Given the description of an element on the screen output the (x, y) to click on. 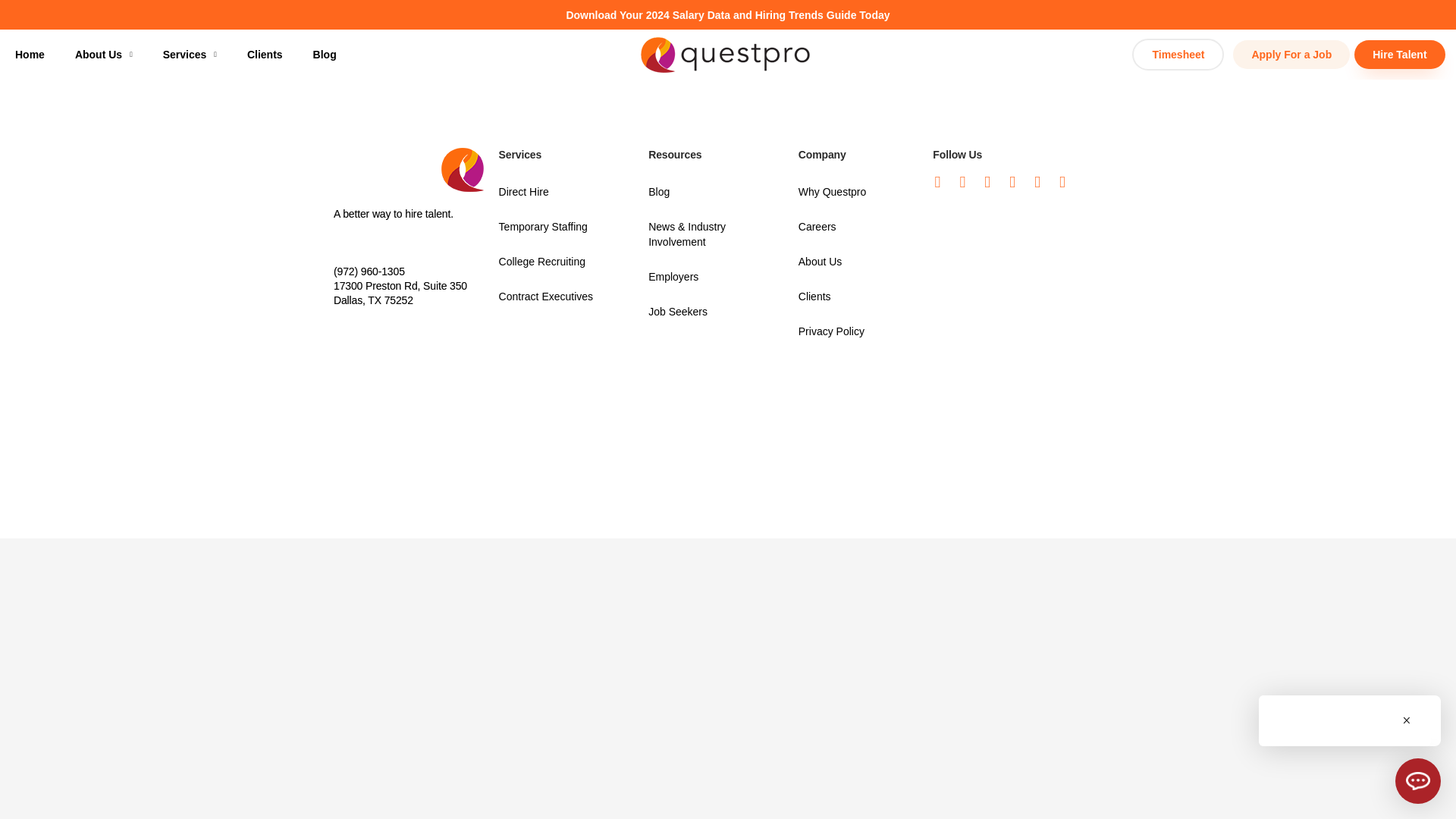
Download Your 2024 Salary Data and Hiring Trends Guide Today (727, 15)
Blog (325, 54)
About Us (103, 54)
Clients (264, 54)
Home (29, 54)
Services (189, 54)
